Given the description of an element on the screen output the (x, y) to click on. 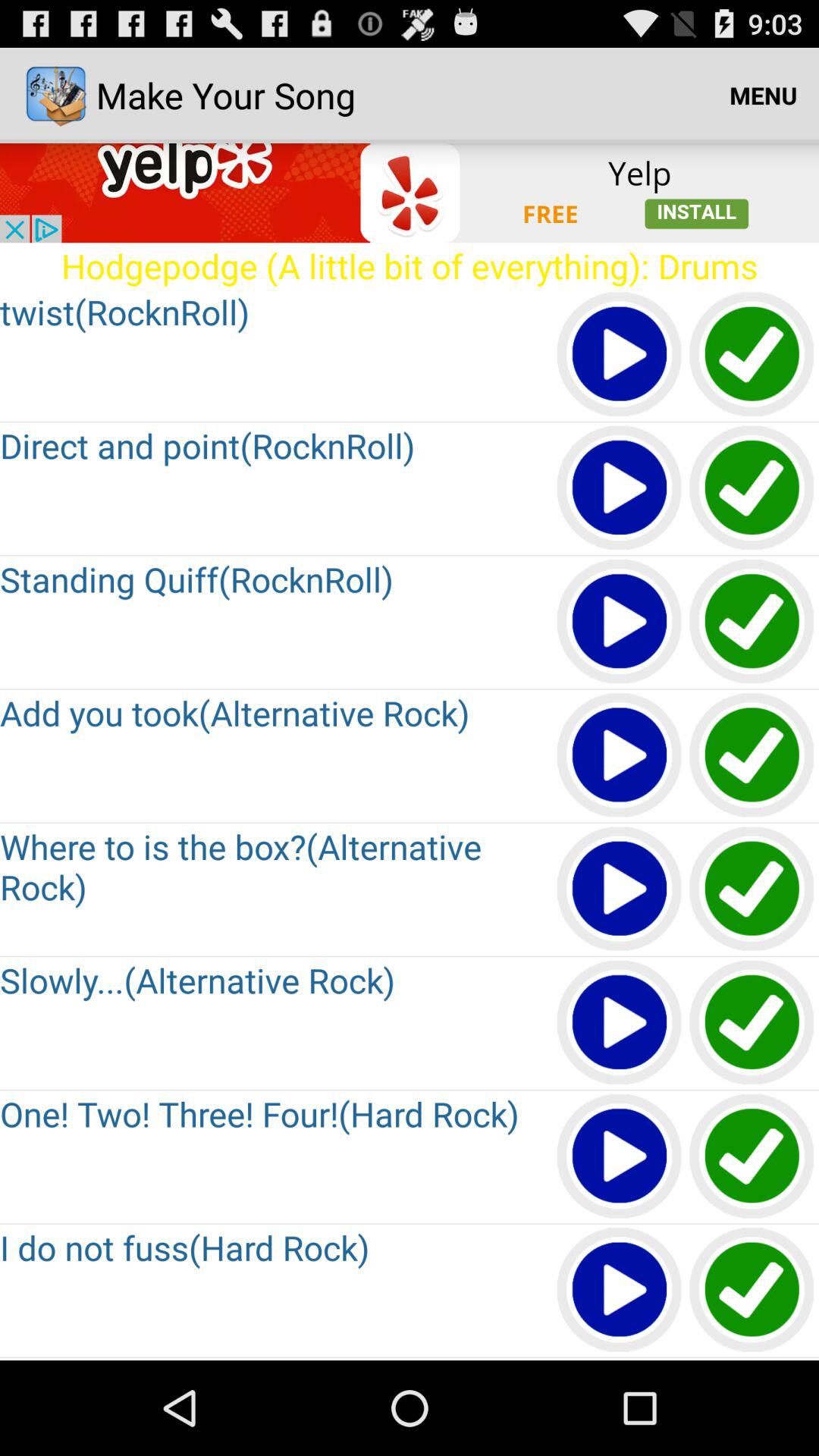
play track (619, 889)
